Given the description of an element on the screen output the (x, y) to click on. 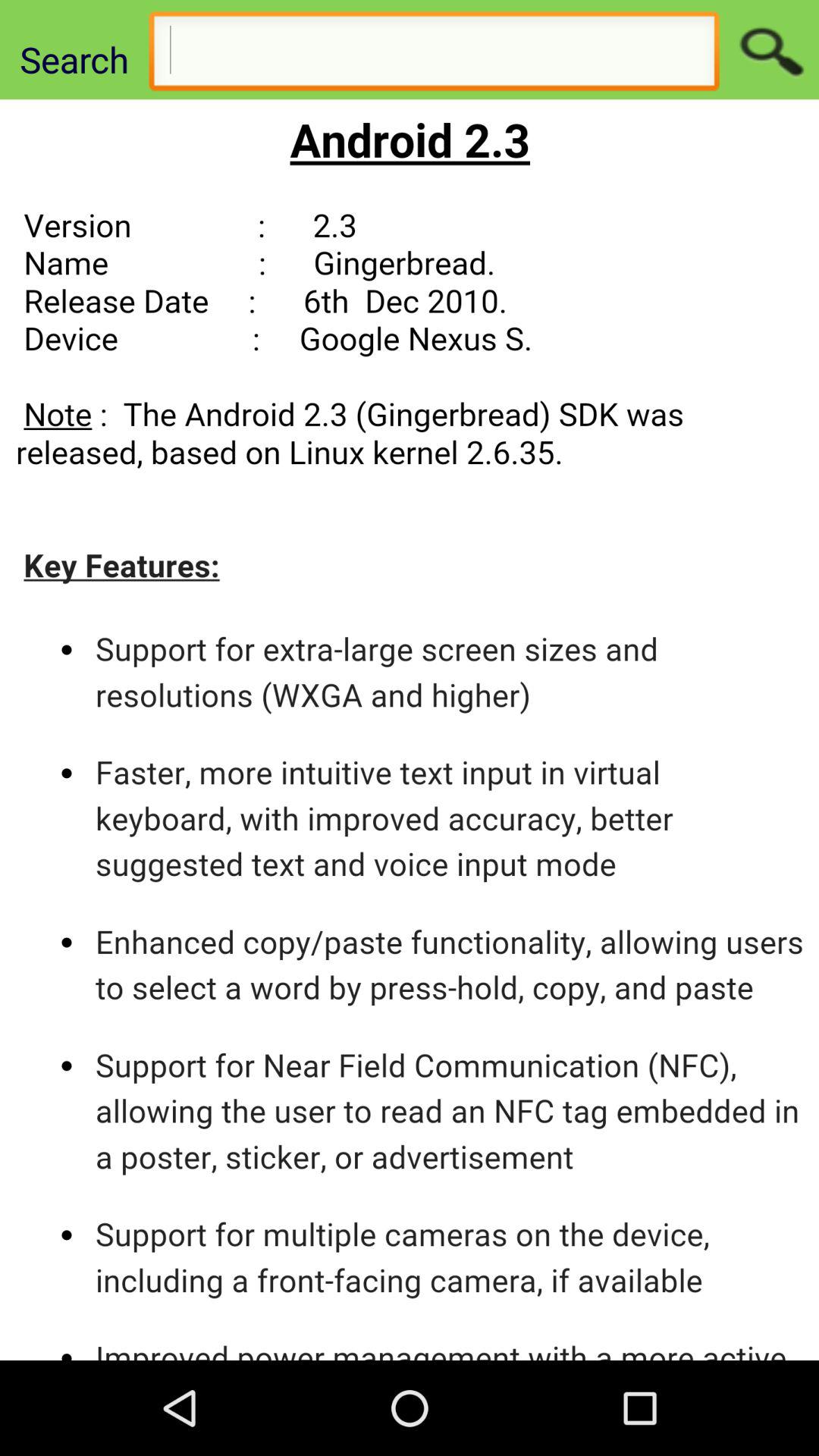
search (769, 49)
